Given the description of an element on the screen output the (x, y) to click on. 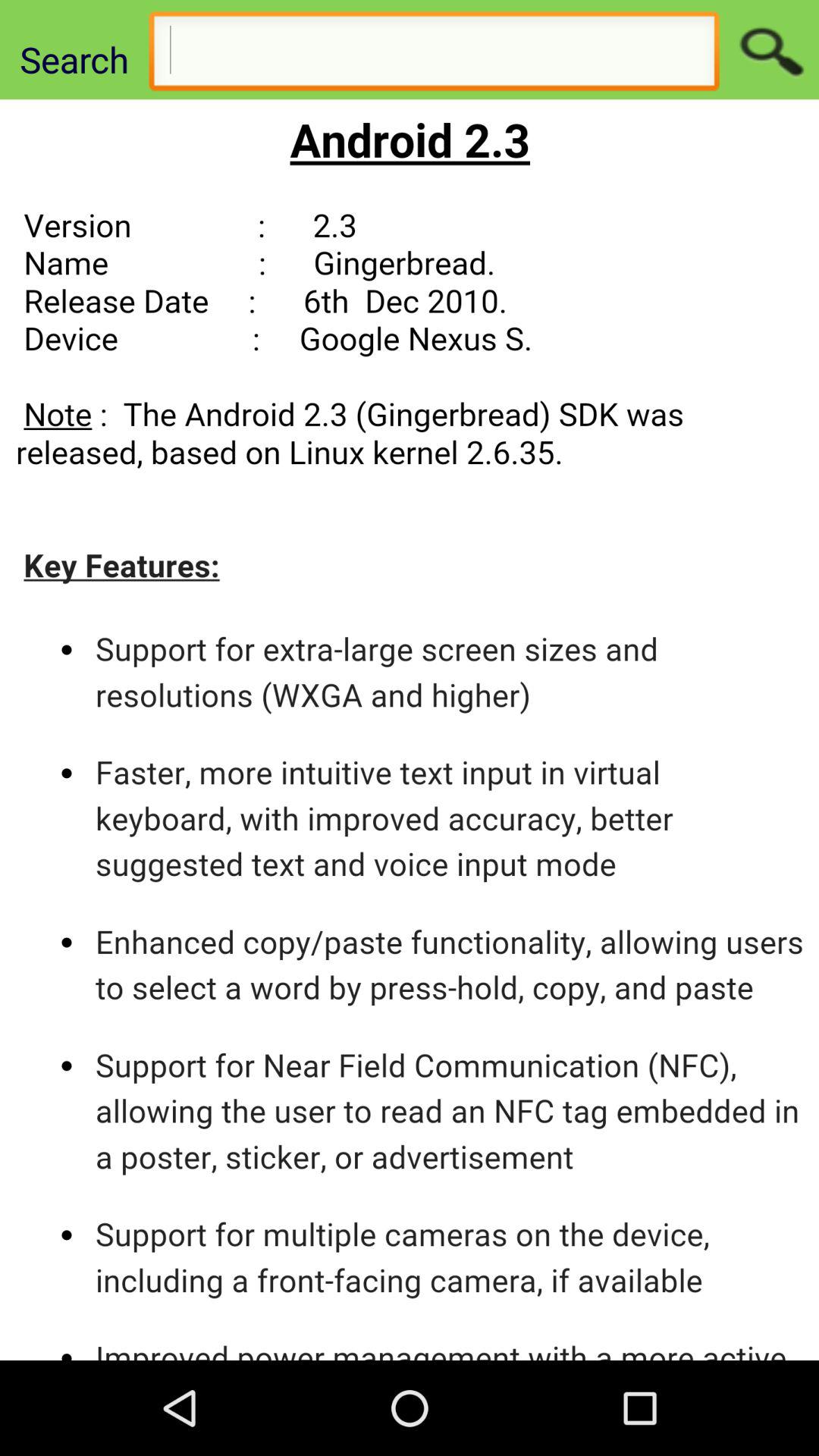
search (769, 49)
